Given the description of an element on the screen output the (x, y) to click on. 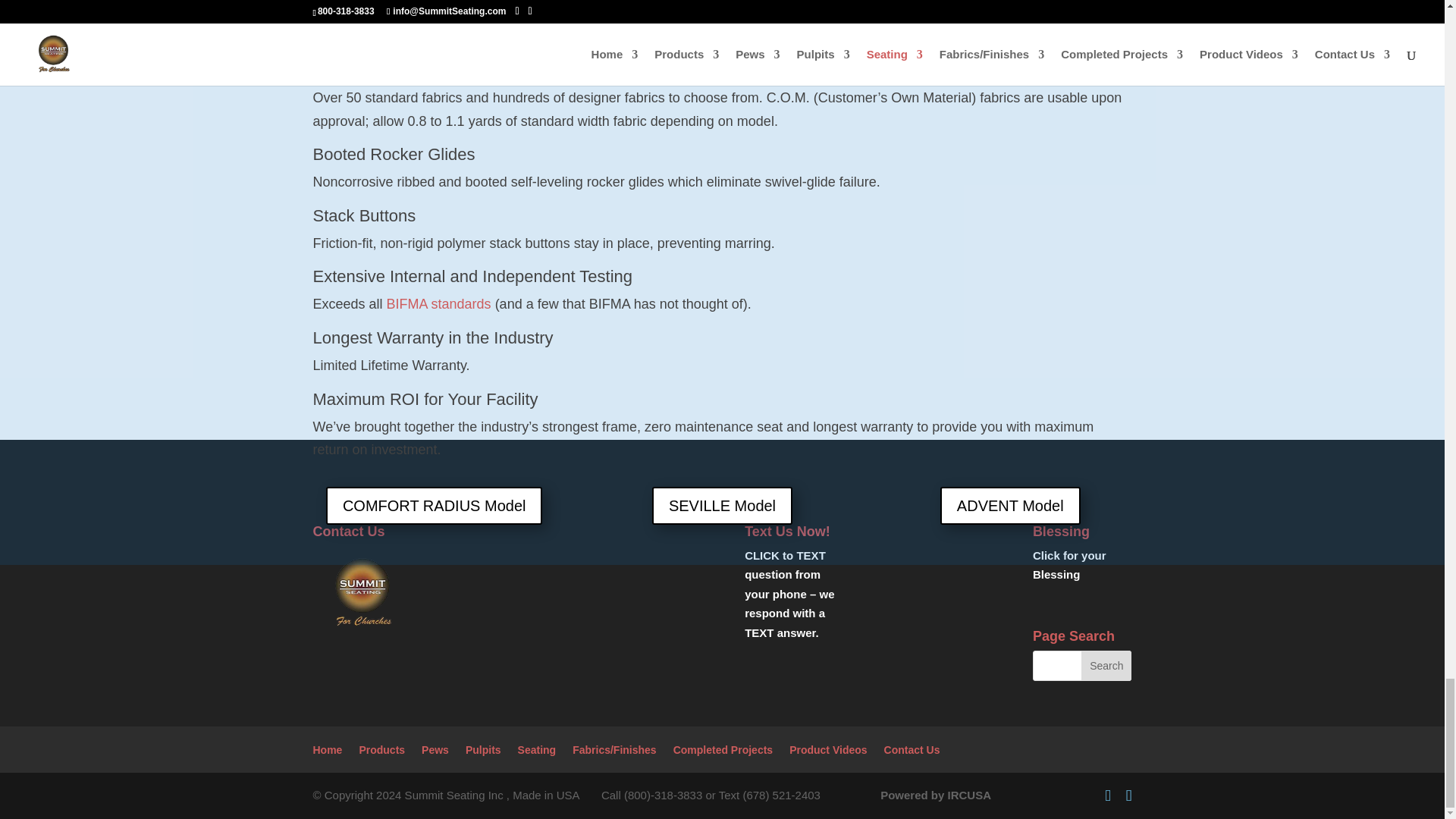
Search (1106, 665)
